Given the description of an element on the screen output the (x, y) to click on. 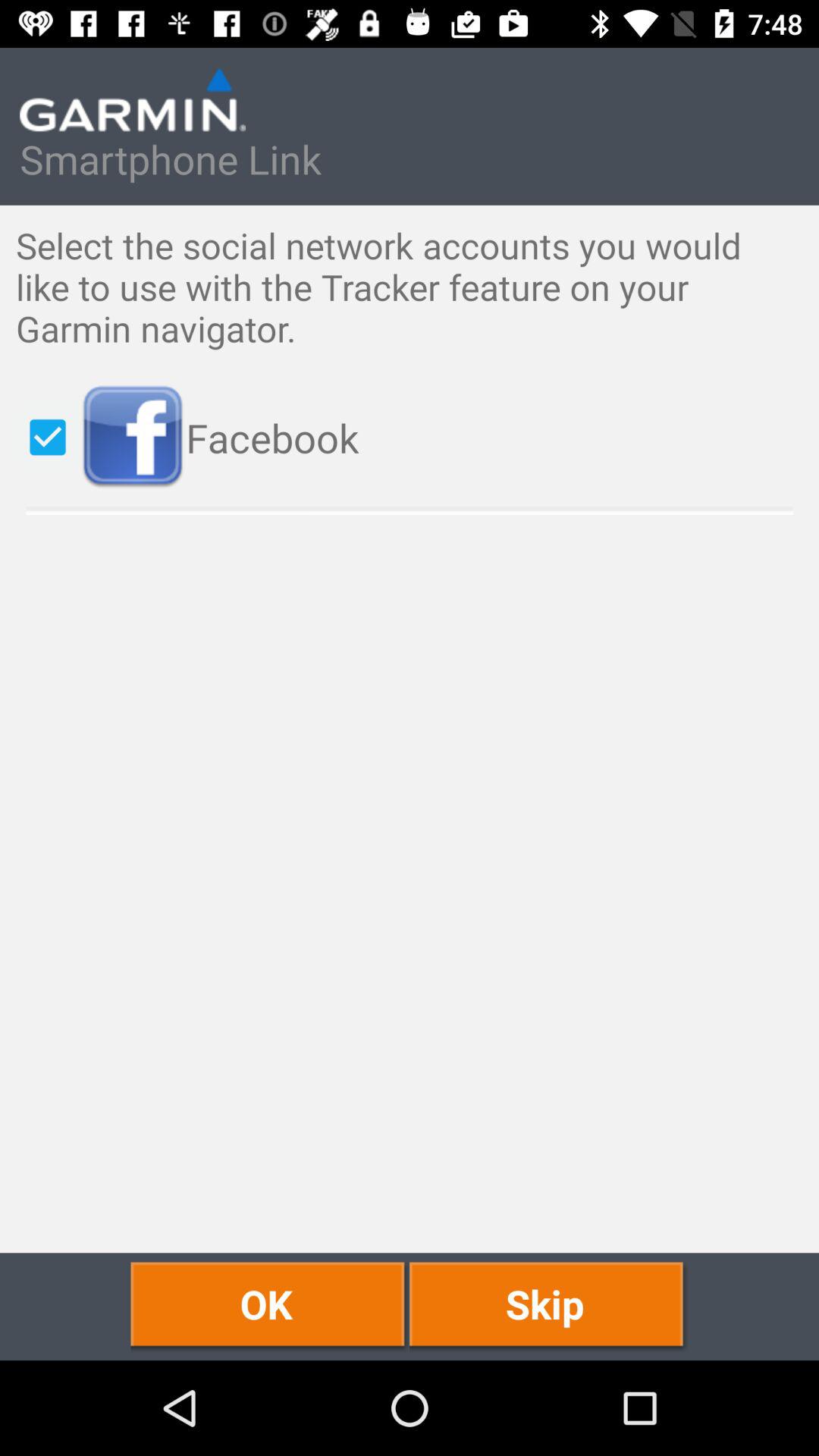
turn off the item to the left of skip (269, 1306)
